Given the description of an element on the screen output the (x, y) to click on. 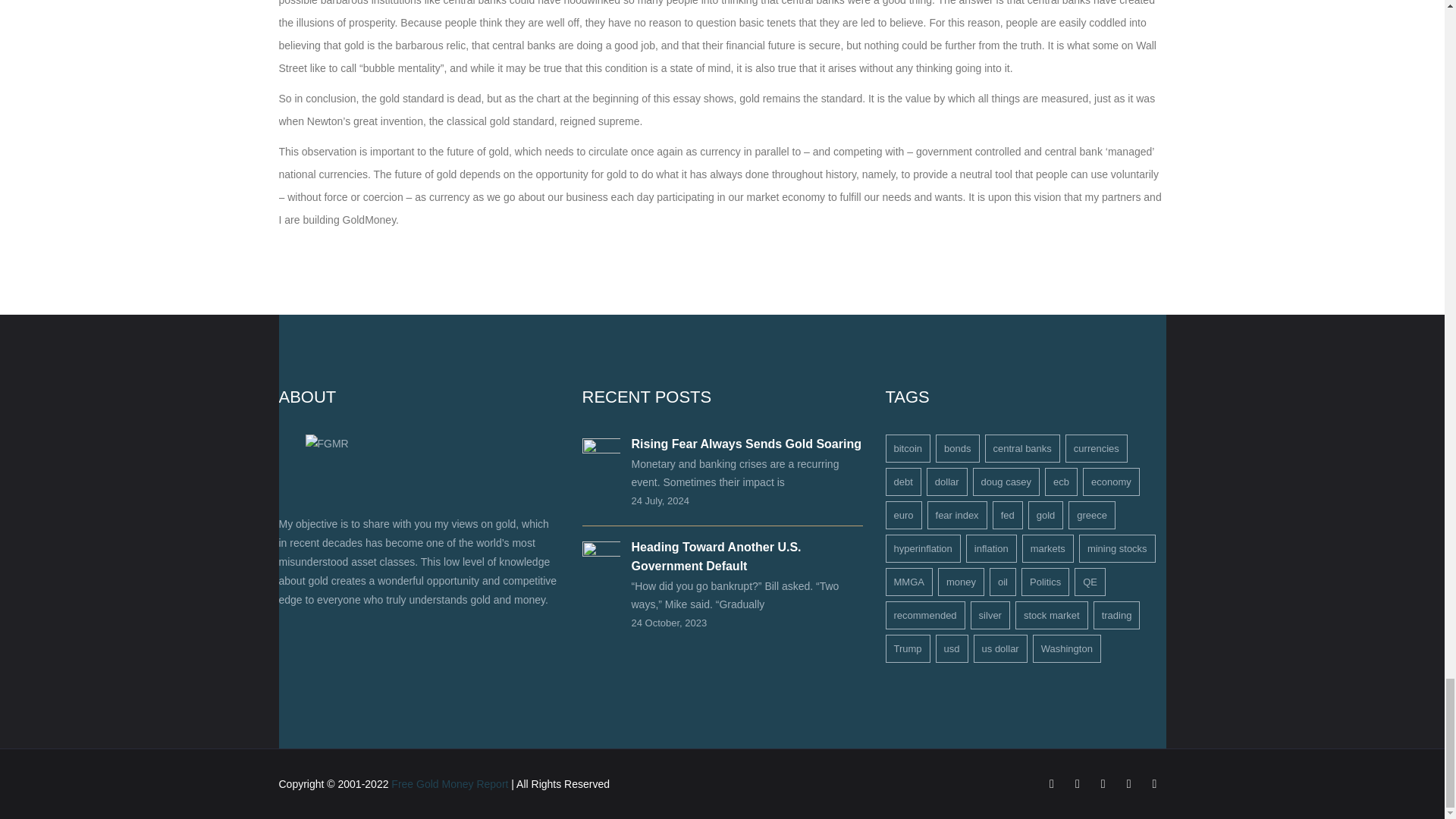
dollar (947, 481)
1 topic (908, 448)
greece (1091, 515)
Rising Fear Always Sends Gold Soaring (745, 443)
inflation (991, 548)
mining stocks (1117, 548)
QE (1089, 582)
central banks (1021, 448)
Heading Toward Another U.S. Government Default (715, 556)
currencies (1095, 448)
